Given the description of an element on the screen output the (x, y) to click on. 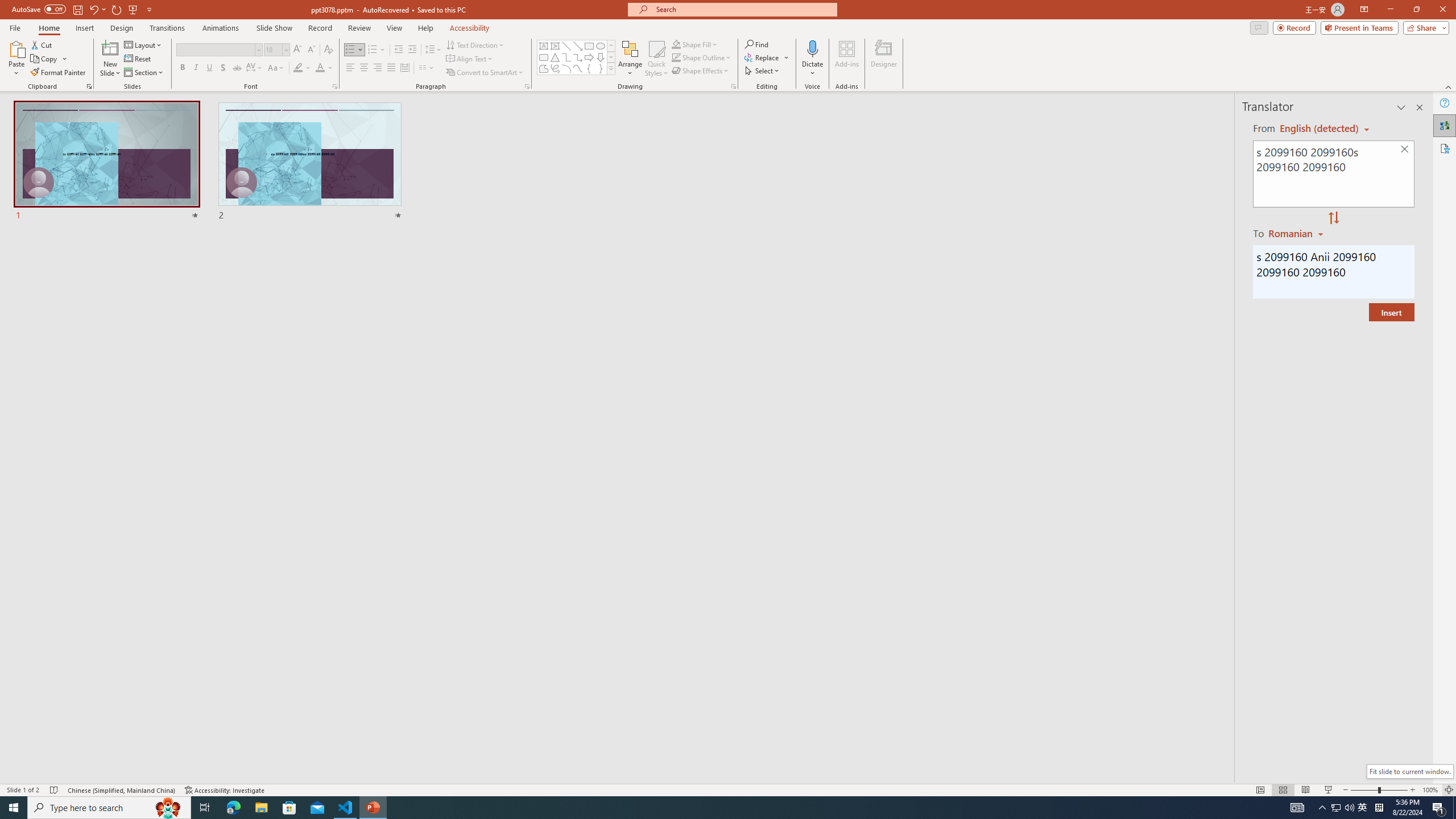
Page 1 content (719, 416)
